Given the description of an element on the screen output the (x, y) to click on. 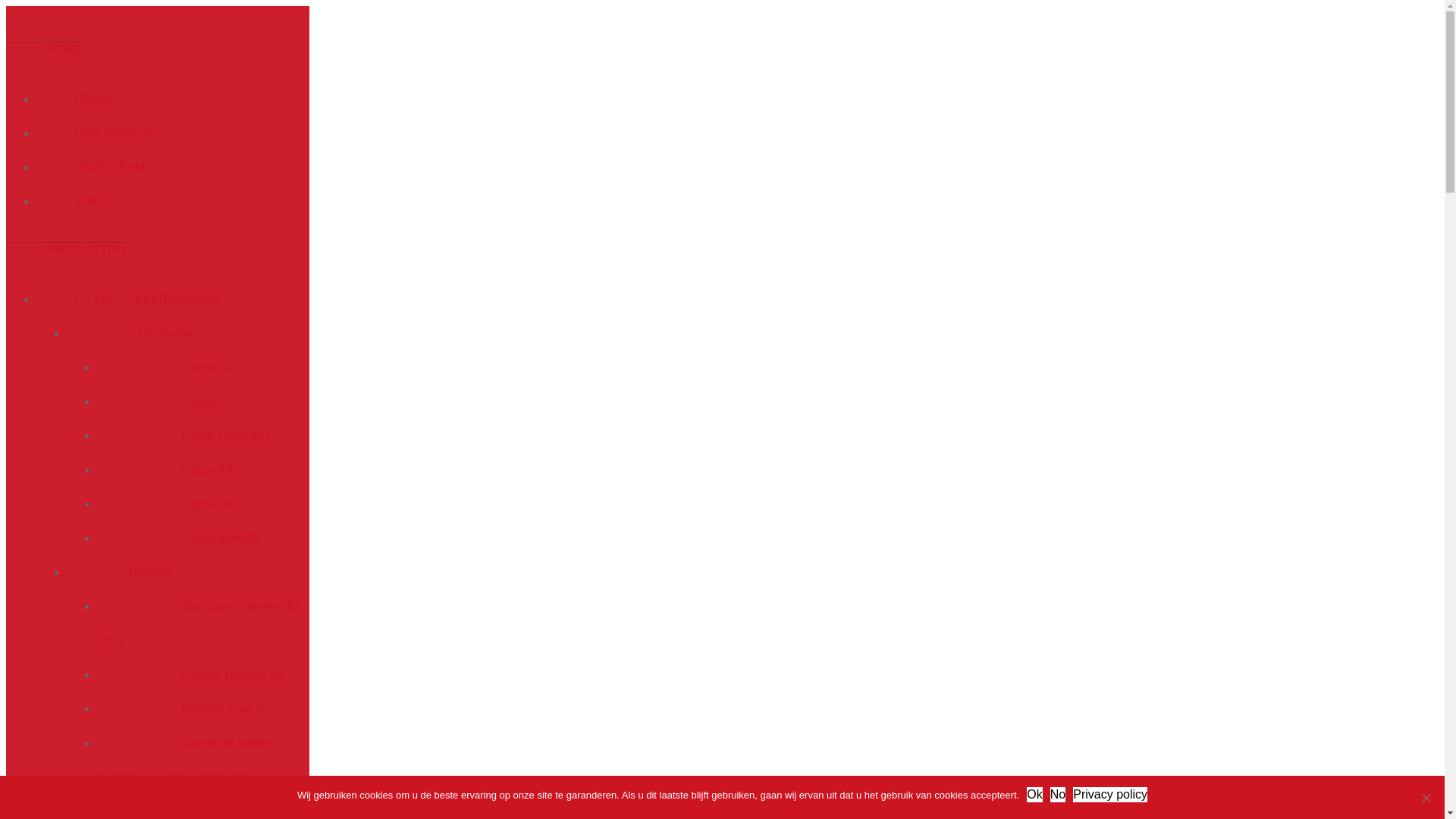
L type GARDEN Element type: text (183, 435)
T Elementen Element type: text (131, 810)
L Elementen Element type: text (131, 332)
No Element type: hover (1425, 797)
L type C Element type: text (161, 401)
Hoeken Element type: text (118, 571)
Prefab. Hoeken BX Element type: text (191, 674)
NEWS Element type: text (73, 98)
Privacy policy Element type: text (1110, 794)
Hoeken Type C Element type: text (181, 708)
L type BX Element type: text (165, 366)
HOME Element type: text (44, 48)
L type AX Element type: text (165, 469)
No Element type: text (1057, 794)
Ok Element type: text (1033, 794)
L type gewelfd Element type: text (178, 537)
Samen te stellen hoeken (Hoogste elementen) Element type: text (184, 759)
ONS BEDRIJF Element type: text (95, 132)
L type DX Element type: text (166, 503)
JOBS Element type: text (71, 200)
PRODUCTEN Element type: text (65, 249)
ONZE TEAM Element type: text (90, 166)
